Given the description of an element on the screen output the (x, y) to click on. 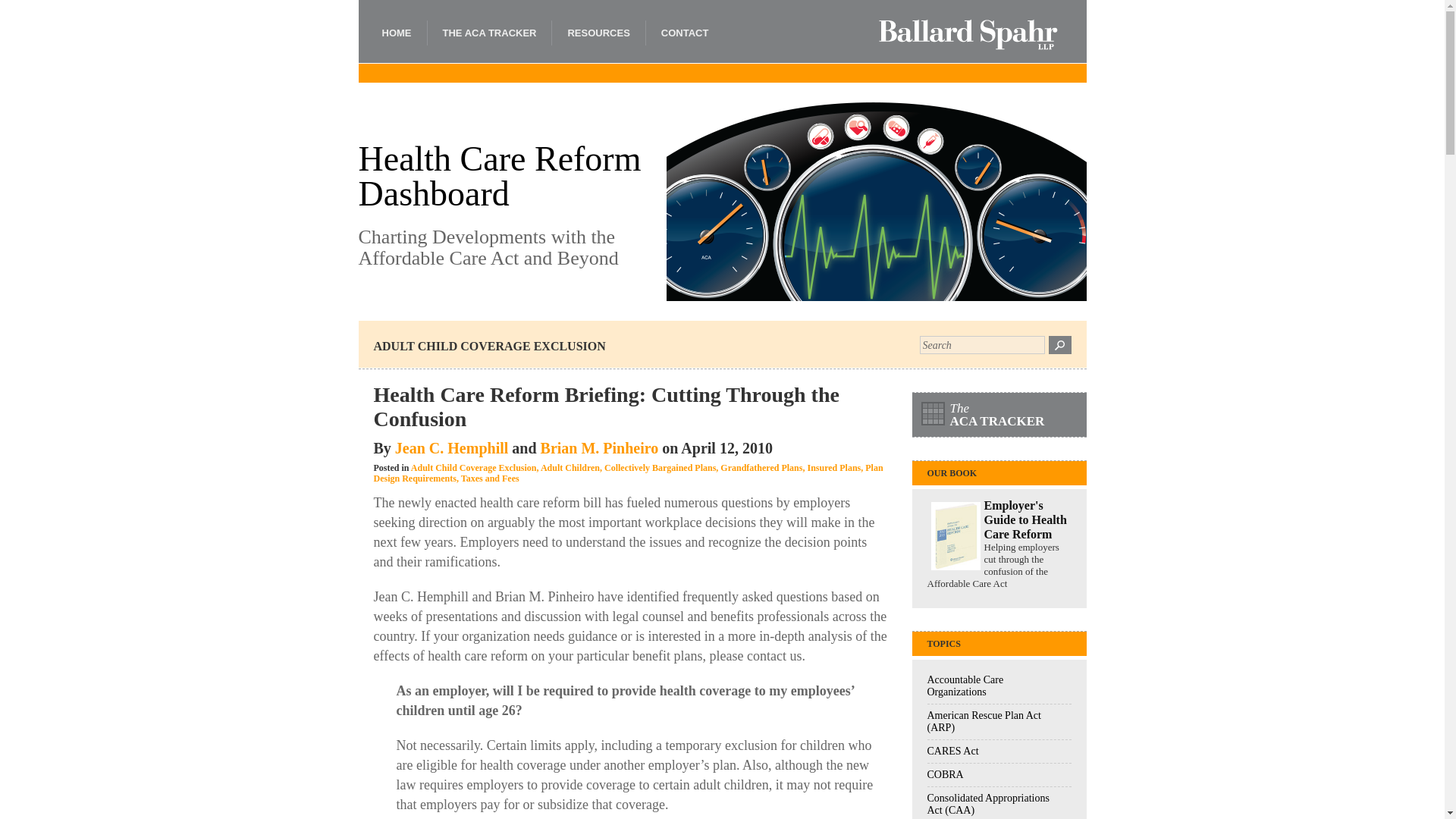
Adult Children, (571, 467)
RESOURCES (598, 32)
THE ACA TRACKER (488, 32)
Adult Child Coverage Exclusion, (474, 467)
Taxes and Fees (490, 478)
CONTACT (684, 32)
Jean C. Hemphill (451, 447)
Brian M. Pinheiro (599, 447)
Health Care Reform Dashboard (511, 176)
Health Care Reform Dashboard (511, 176)
